Given the description of an element on the screen output the (x, y) to click on. 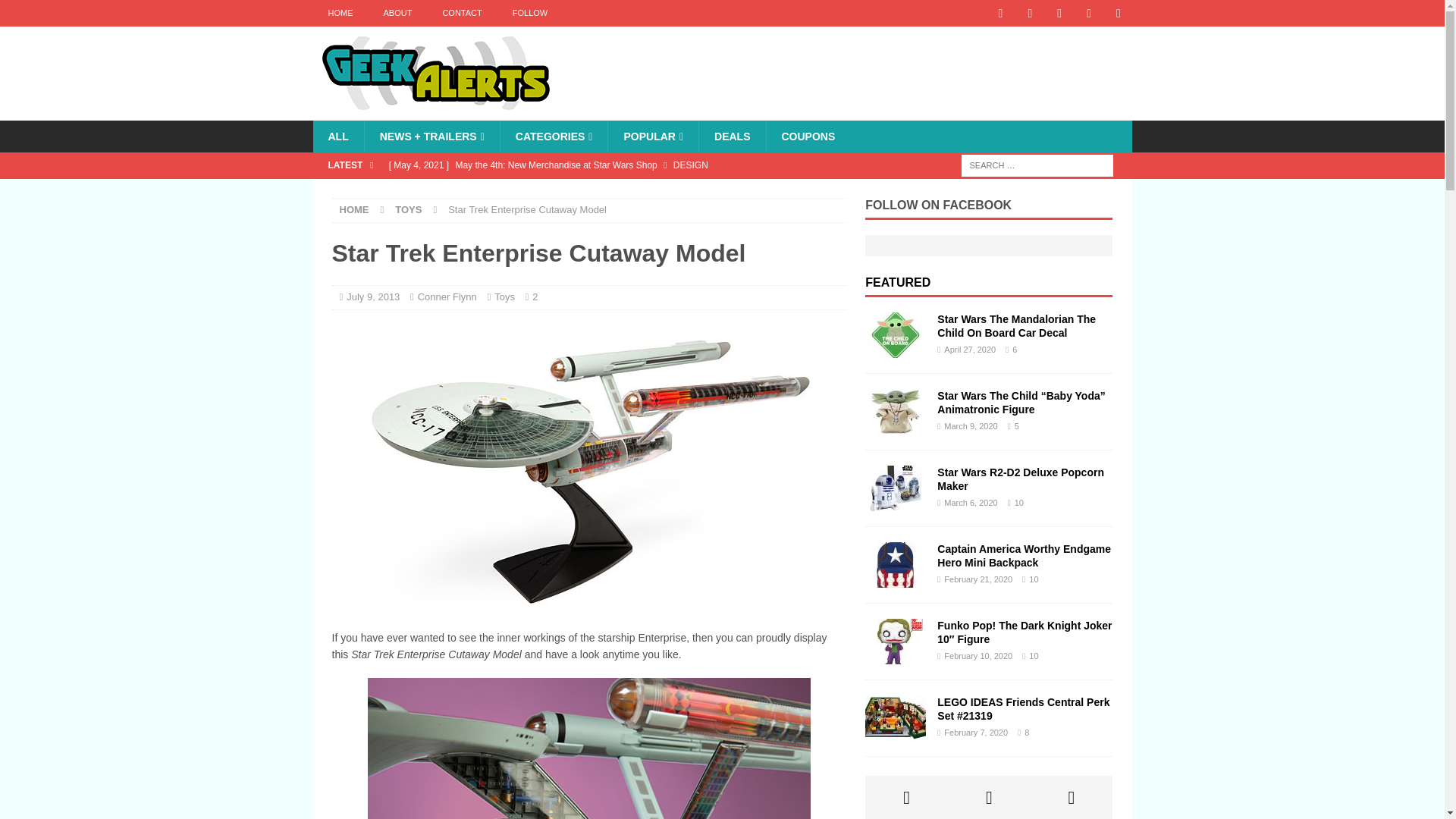
CONTACT (461, 13)
ABOUT (398, 13)
HOME (354, 209)
COUPONS (807, 136)
Rick and Morty Get Shwifty Bluetooth Speaker (612, 190)
HOME (340, 13)
DEALS (731, 136)
FOLLOW (529, 13)
CATEGORIES (553, 136)
ALL (337, 136)
Search (56, 11)
POPULAR (652, 136)
May the 4th: New Merchandise at Star Wars Shop (612, 165)
